Given the description of an element on the screen output the (x, y) to click on. 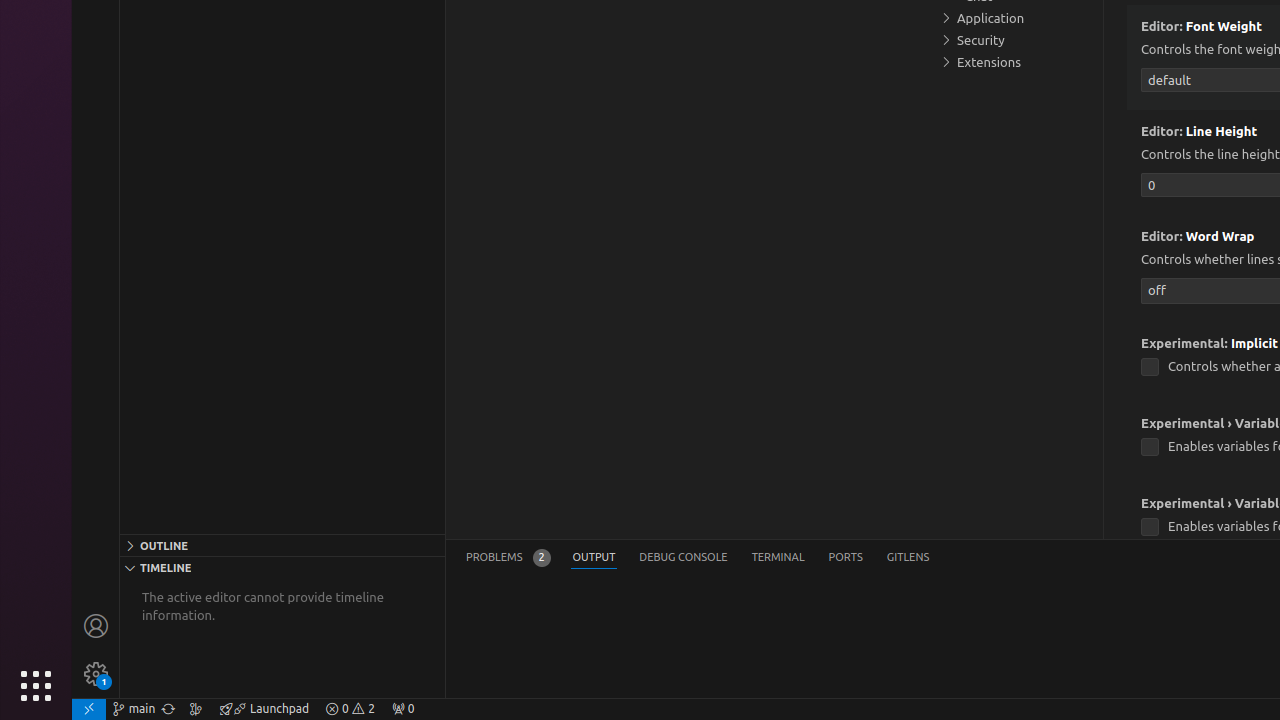
OSWorld (Git) - Synchronize Changes Element type: push-button (168, 709)
Timeline Section Element type: push-button (282, 567)
Manage - New Code update available. Element type: push-button (96, 674)
Terminal (Ctrl+`) Element type: page-tab (778, 557)
Show the GitLens Commit Graph Element type: push-button (196, 709)
